Given the description of an element on the screen output the (x, y) to click on. 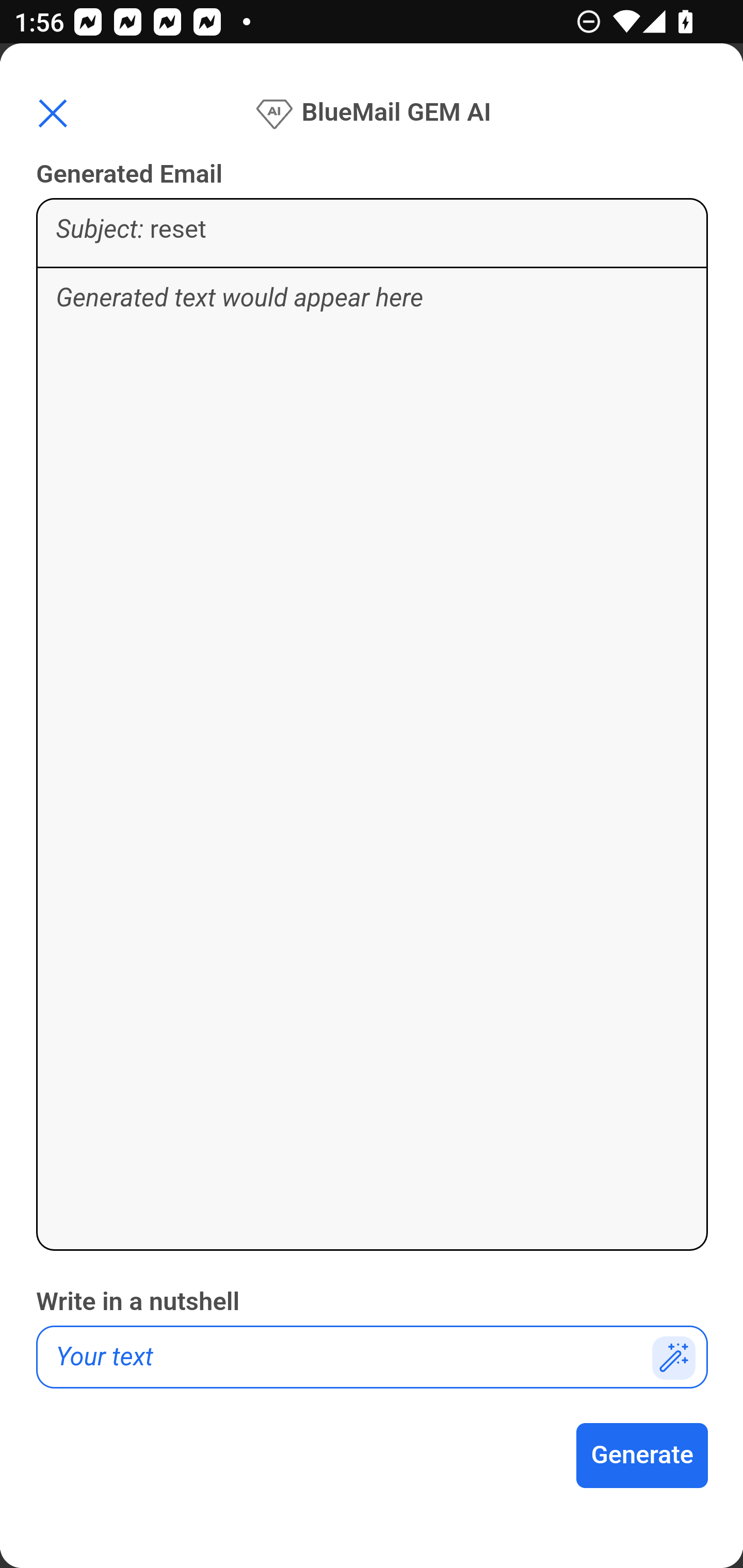
Generate (642, 1455)
